Given the description of an element on the screen output the (x, y) to click on. 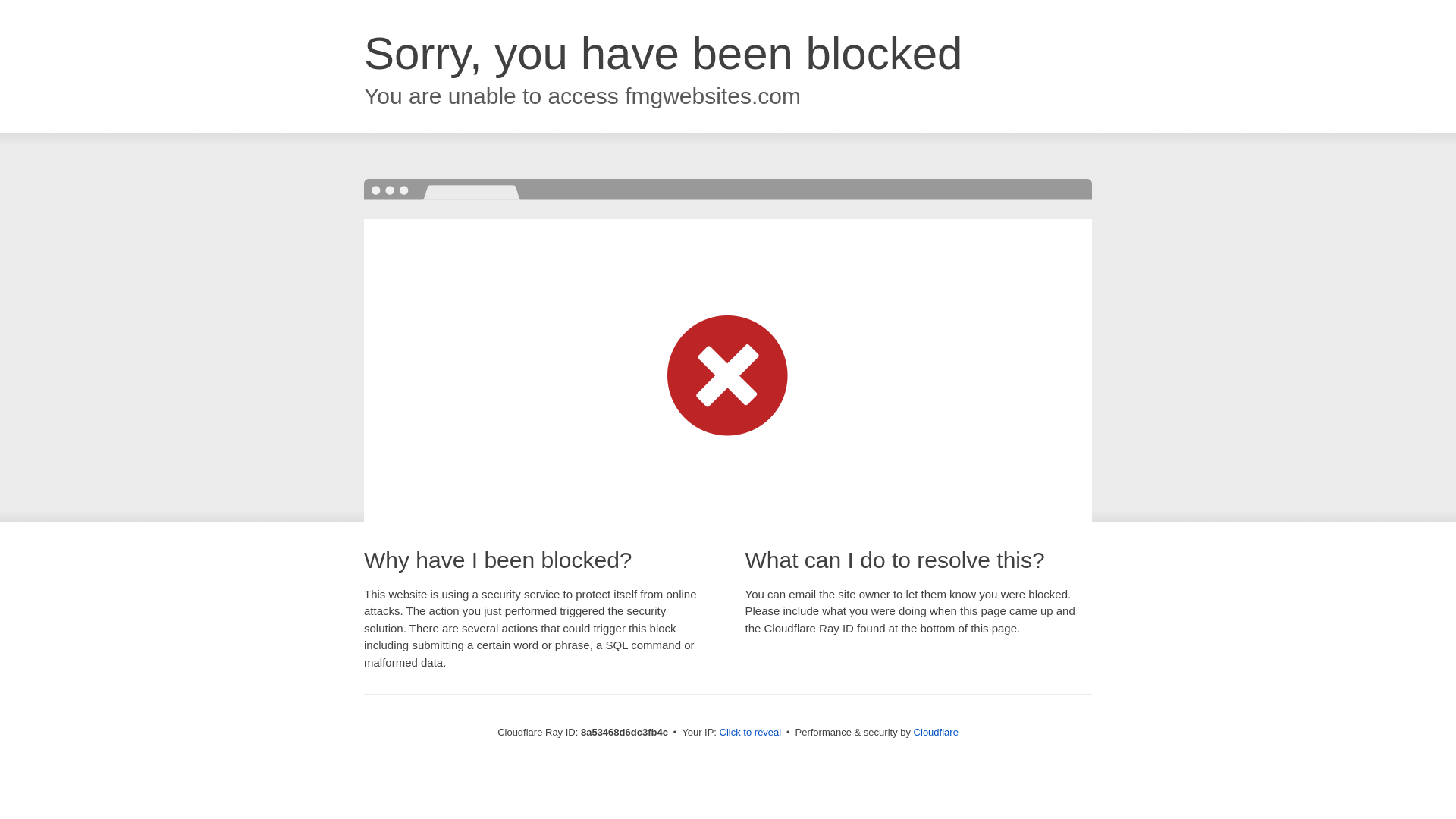
Click to reveal (750, 732)
Cloudflare (936, 731)
